Given the description of an element on the screen output the (x, y) to click on. 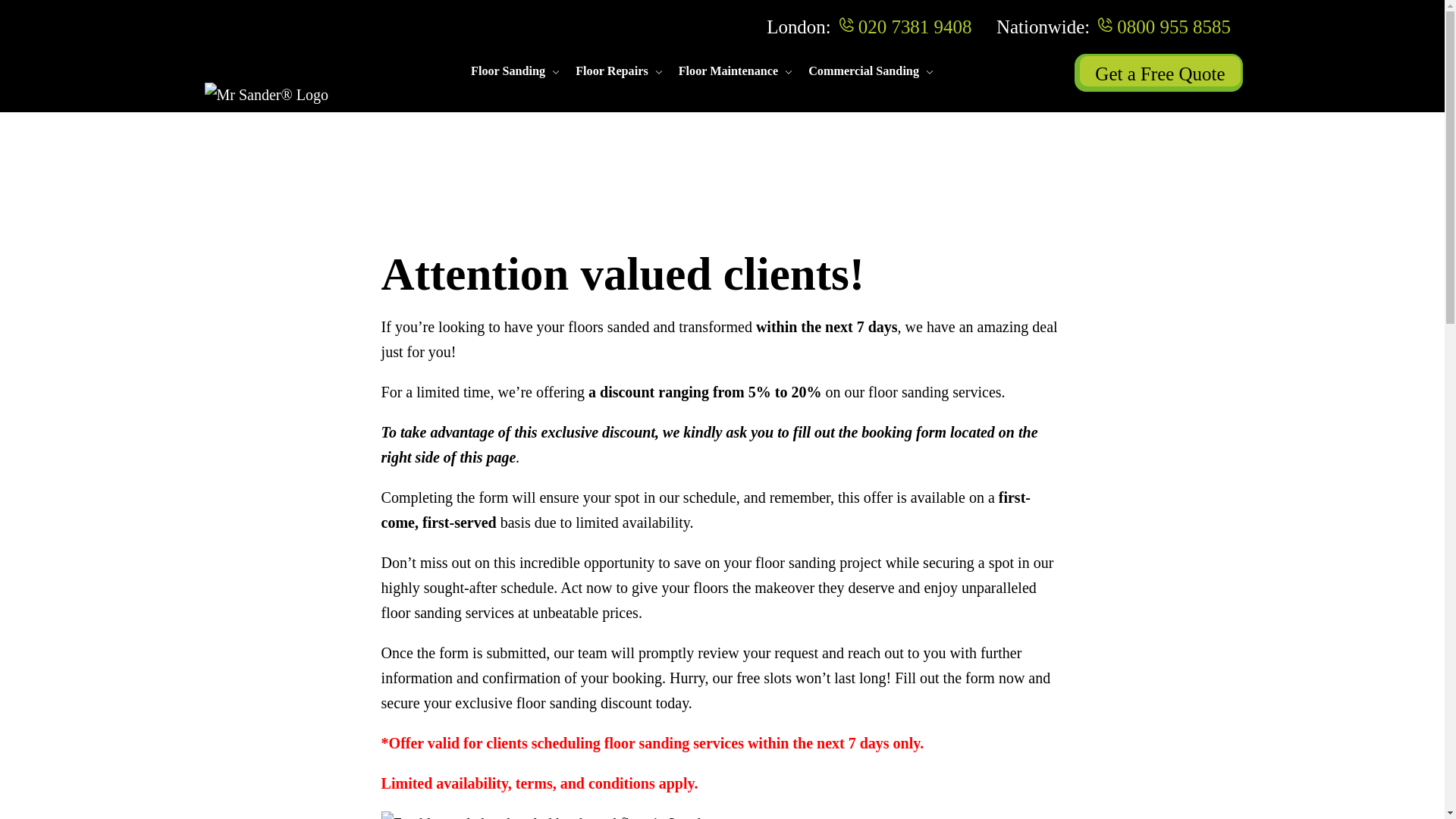
0800 955 8585 (1173, 26)
020 7381 9408 (915, 26)
Floor Repairs (611, 71)
Floor Sanding (507, 71)
Floor Maintenance (727, 71)
